Given the description of an element on the screen output the (x, y) to click on. 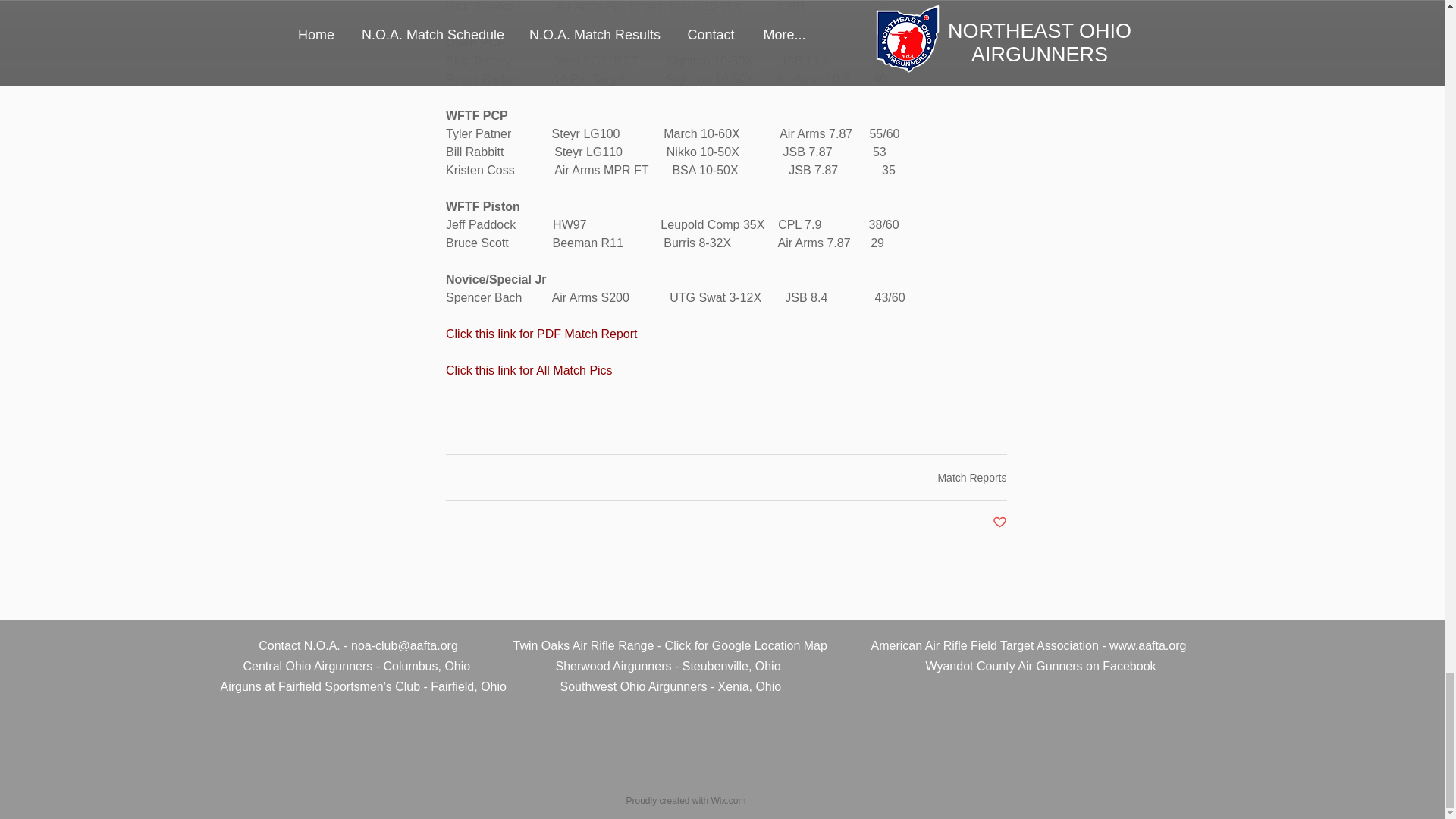
Click for Google Location Map (746, 645)
Match Reports (971, 477)
Post not marked as liked (998, 522)
Click this link for PDF Match Report (541, 333)
Southwest Ohio Airgunners - Xenia, Ohio (669, 686)
Airguns at Fairfield Sportsmen's Club - Fairfield, Ohio (362, 686)
Wix.com (728, 800)
Click this link for All Match Pics (528, 369)
Wyandot County Air Gunners on Facebook (1040, 666)
Central Ohio Airgunners - Columbus, Ohio (356, 666)
